Given the description of an element on the screen output the (x, y) to click on. 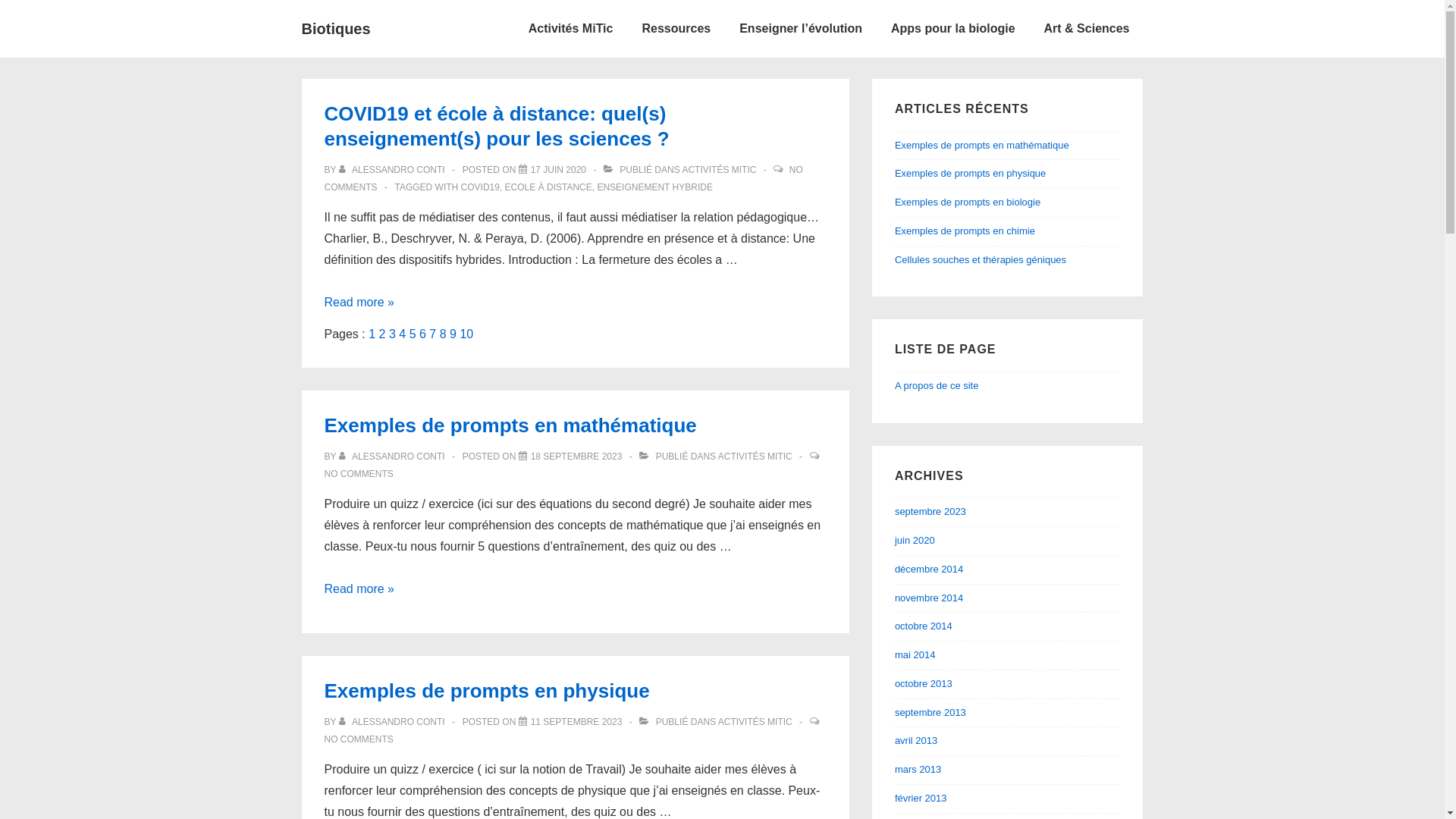
ENSEIGNEMENT HYBRIDE Element type: text (654, 187)
4 Element type: text (401, 333)
7 Element type: text (432, 333)
Exemples de prompts en biologie Element type: text (967, 201)
A propos de ce site Element type: text (936, 385)
Ressources Element type: text (675, 28)
ALESSANDRO CONTI Element type: text (392, 456)
novembre 2014 Element type: text (928, 597)
Apps pour la biologie Element type: text (953, 28)
3 Element type: text (392, 333)
8 Element type: text (442, 333)
9 Element type: text (452, 333)
septembre 2013 Element type: text (930, 712)
ALESSANDRO CONTI Element type: text (392, 721)
Exemples de prompts en physique Element type: text (969, 172)
avril 2013 Element type: text (915, 740)
septembre 2023 Element type: text (930, 511)
Exemples de prompts en chimie Element type: text (964, 230)
COVID19 Element type: text (480, 187)
ALESSANDRO CONTI Element type: text (392, 169)
18 SEPTEMBRE 2023 Element type: text (576, 456)
6 Element type: text (422, 333)
Exemples de prompts en physique Element type: text (486, 690)
NO COMMENTS Element type: text (358, 473)
NO COMMENTS Element type: text (563, 178)
NO COMMENTS Element type: text (358, 739)
octobre 2014 Element type: text (923, 625)
1 Element type: text (371, 333)
mai 2014 Element type: text (914, 654)
Biotiques Element type: text (335, 28)
17 JUIN 2020 Element type: text (558, 169)
2 Element type: text (382, 333)
juin 2020 Element type: text (914, 540)
octobre 2013 Element type: text (923, 683)
5 Element type: text (412, 333)
11 SEPTEMBRE 2023 Element type: text (576, 721)
10 Element type: text (466, 333)
mars 2013 Element type: text (917, 769)
Art & Sciences Element type: text (1086, 28)
